Given the description of an element on the screen output the (x, y) to click on. 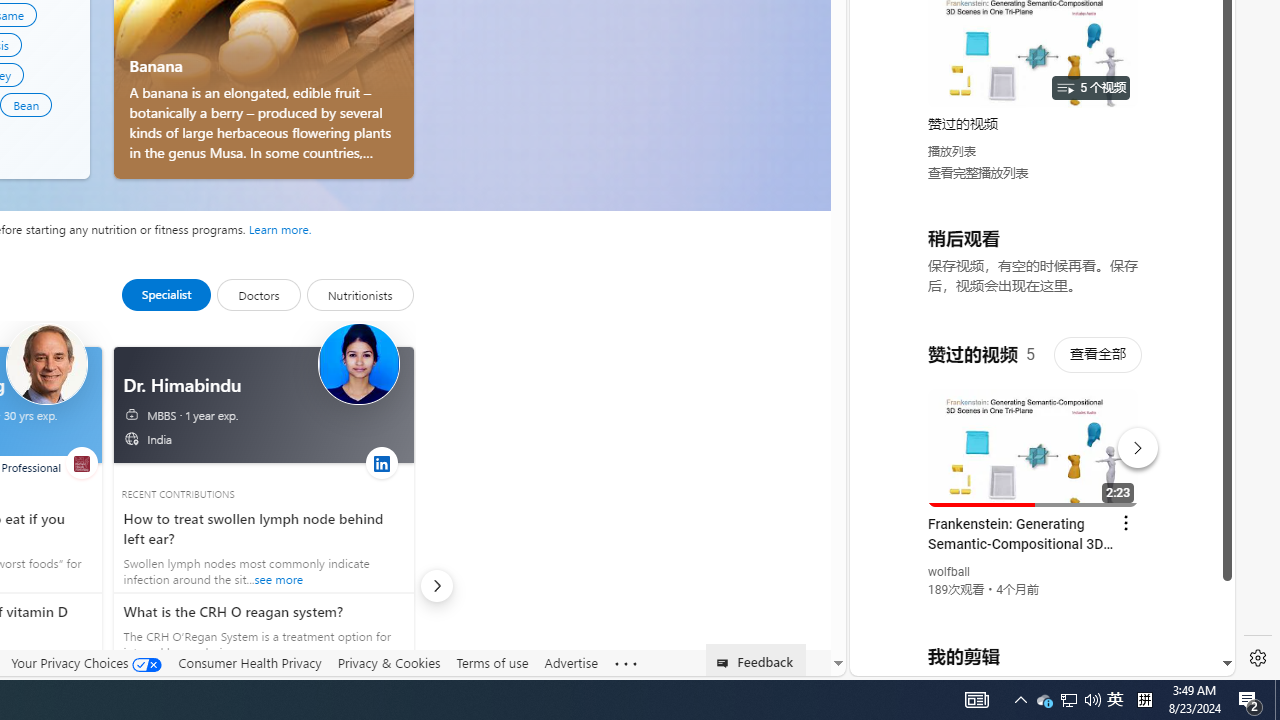
Class: oneFooter_seeMore-DS-EntryPoint1-1 (625, 663)
Class: dict_pnIcon rms_img (1028, 660)
Advertise (570, 662)
Consumer Health Privacy (249, 662)
Class: feedback_link_icon-DS-EntryPoint1-1 (726, 663)
Health professional icon - Dr. Robert H. Shmerling (46, 363)
Advertise (570, 663)
Learn more. (280, 228)
#you (1034, 439)
Your Privacy Choices (86, 663)
Class: vecIn (135, 443)
